Given the description of an element on the screen output the (x, y) to click on. 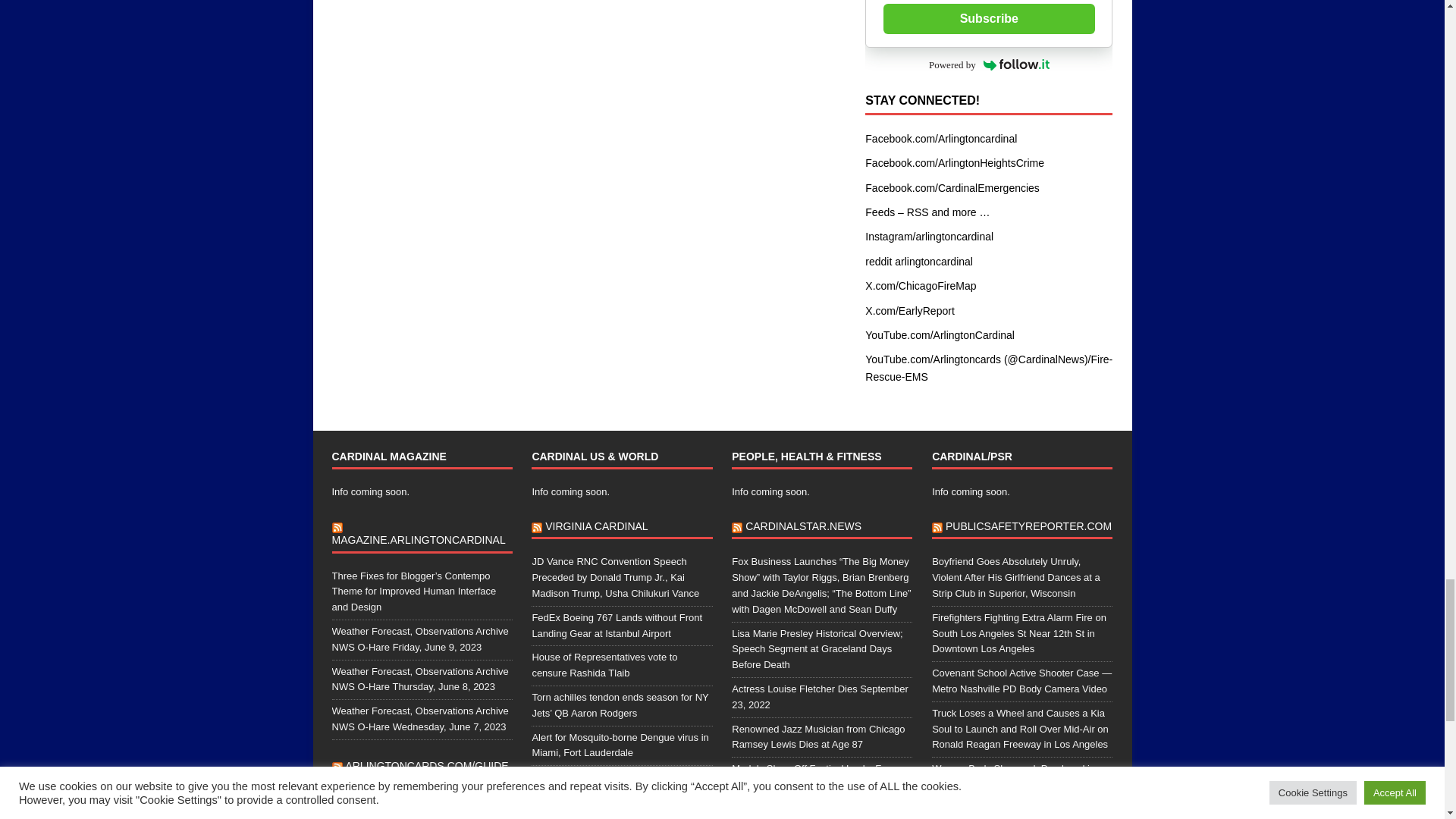
Not much activity here on reddit, yet. (918, 261)
